Given the description of an element on the screen output the (x, y) to click on. 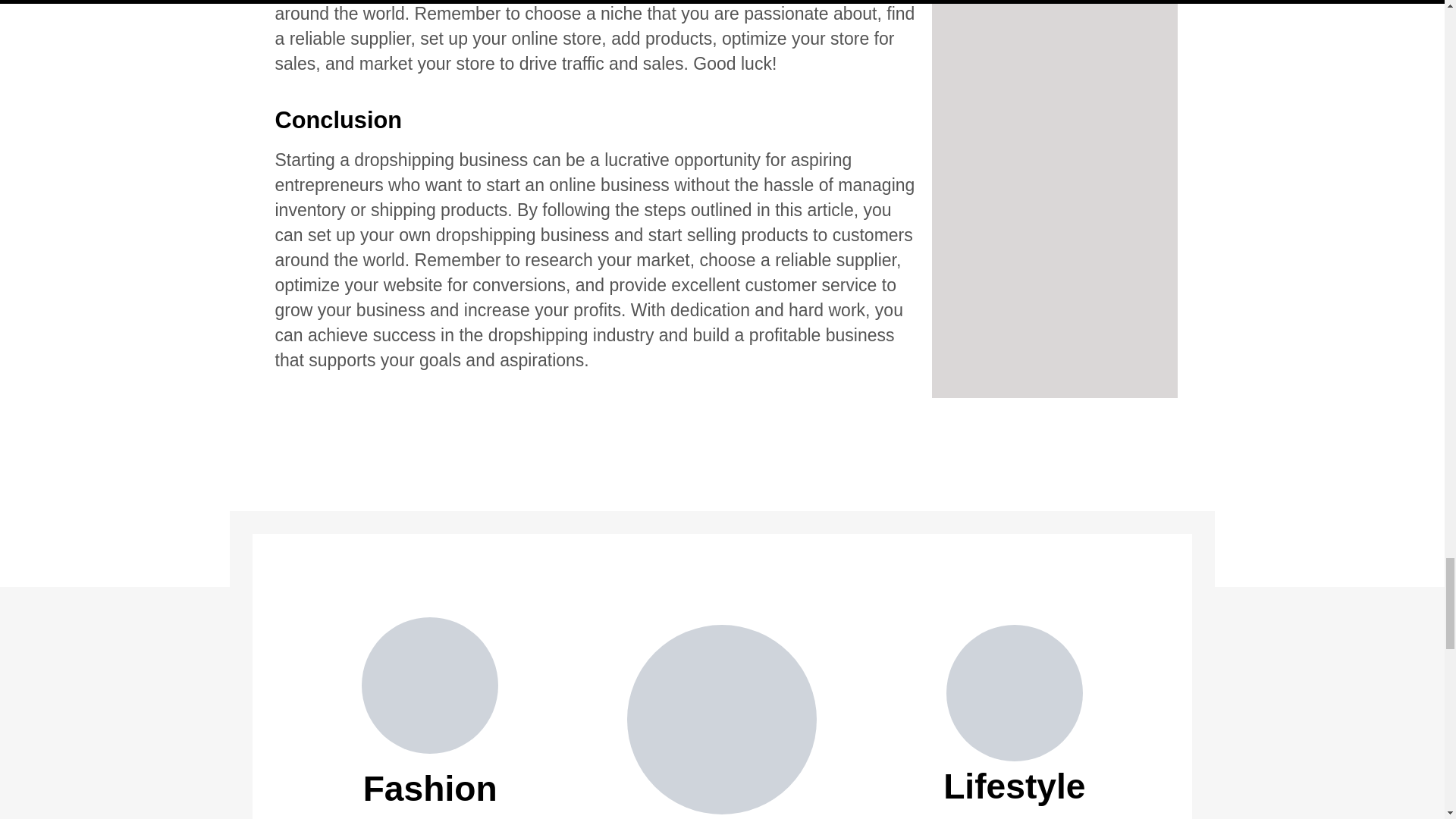
men lifestyle (1014, 692)
men fashion (429, 685)
men fitness (721, 719)
